Given the description of an element on the screen output the (x, y) to click on. 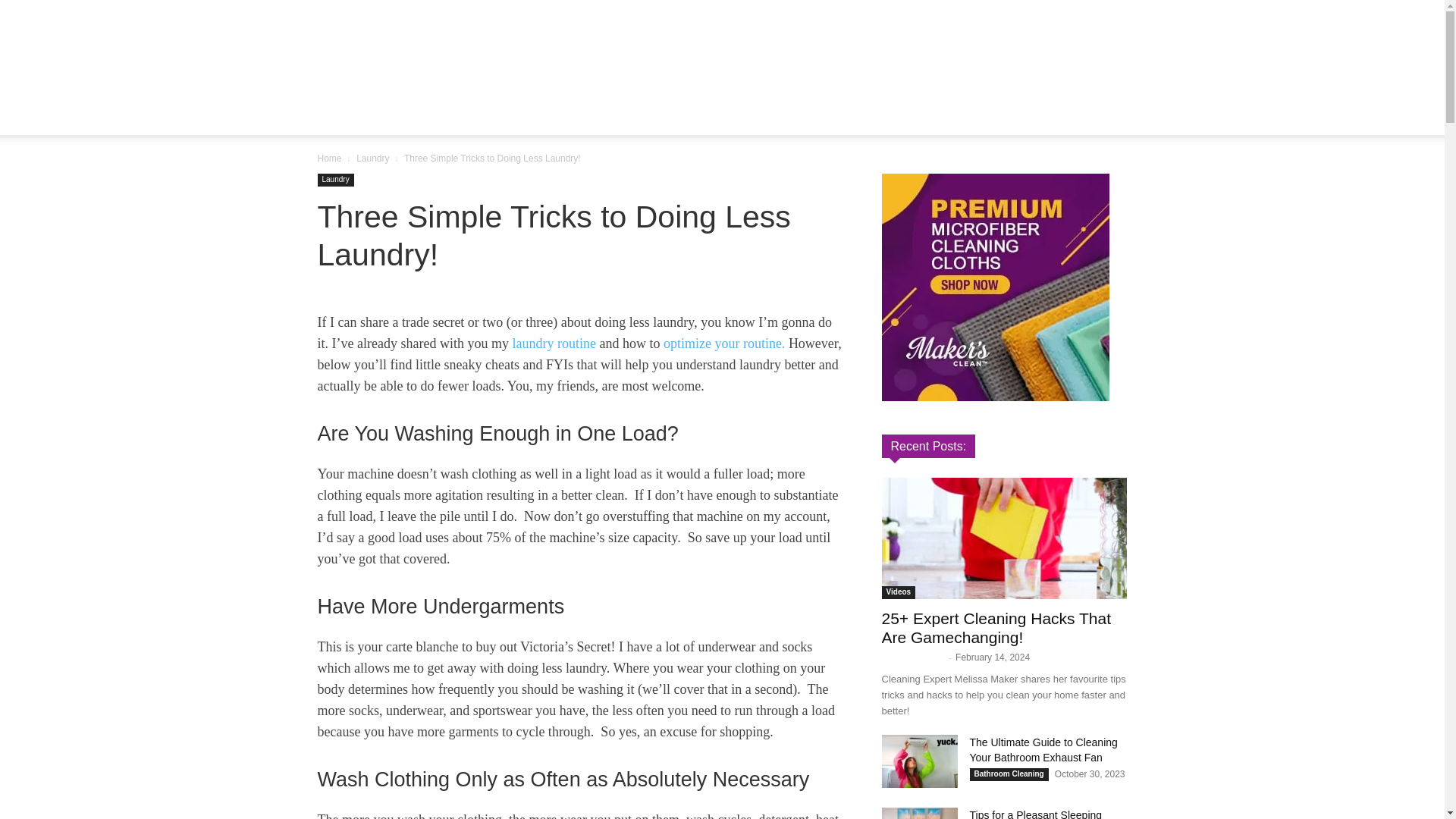
Clean My Space (721, 50)
View all posts in Laundry (372, 158)
